Given the description of an element on the screen output the (x, y) to click on. 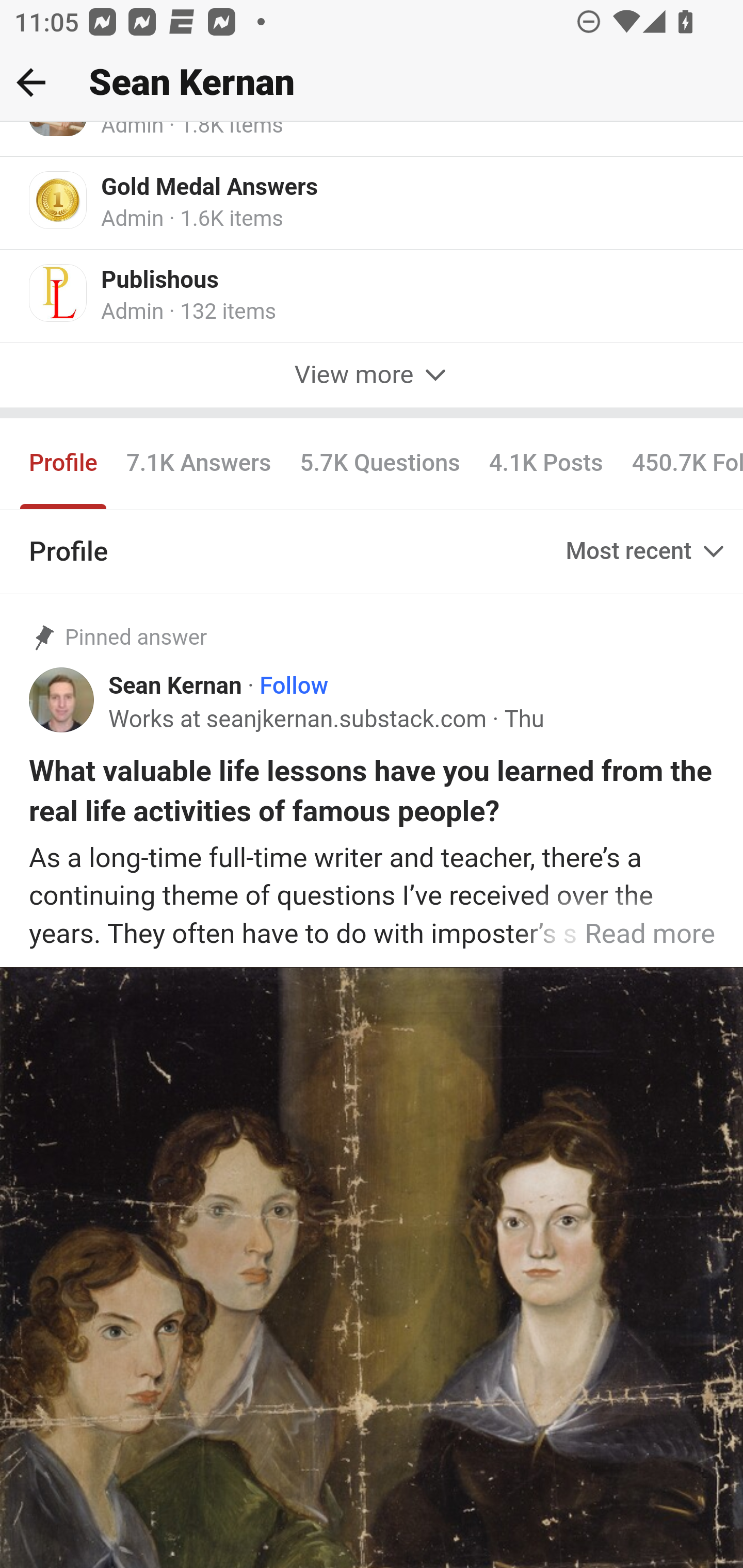
Back (30, 82)
Icon for Gold Medal Answers (58, 200)
Gold Medal Answers (210, 188)
Icon for Publishous (58, 293)
Publishous (160, 280)
View more (371, 375)
Profile (63, 464)
7.1K Answers (197, 464)
5.7K Questions (379, 464)
4.1K Posts (545, 464)
450.7K Followers (679, 464)
Most recent (647, 551)
Profile photo for Sean Kernan (61, 699)
Sean Kernan (175, 685)
Follow (293, 685)
